Given the description of an element on the screen output the (x, y) to click on. 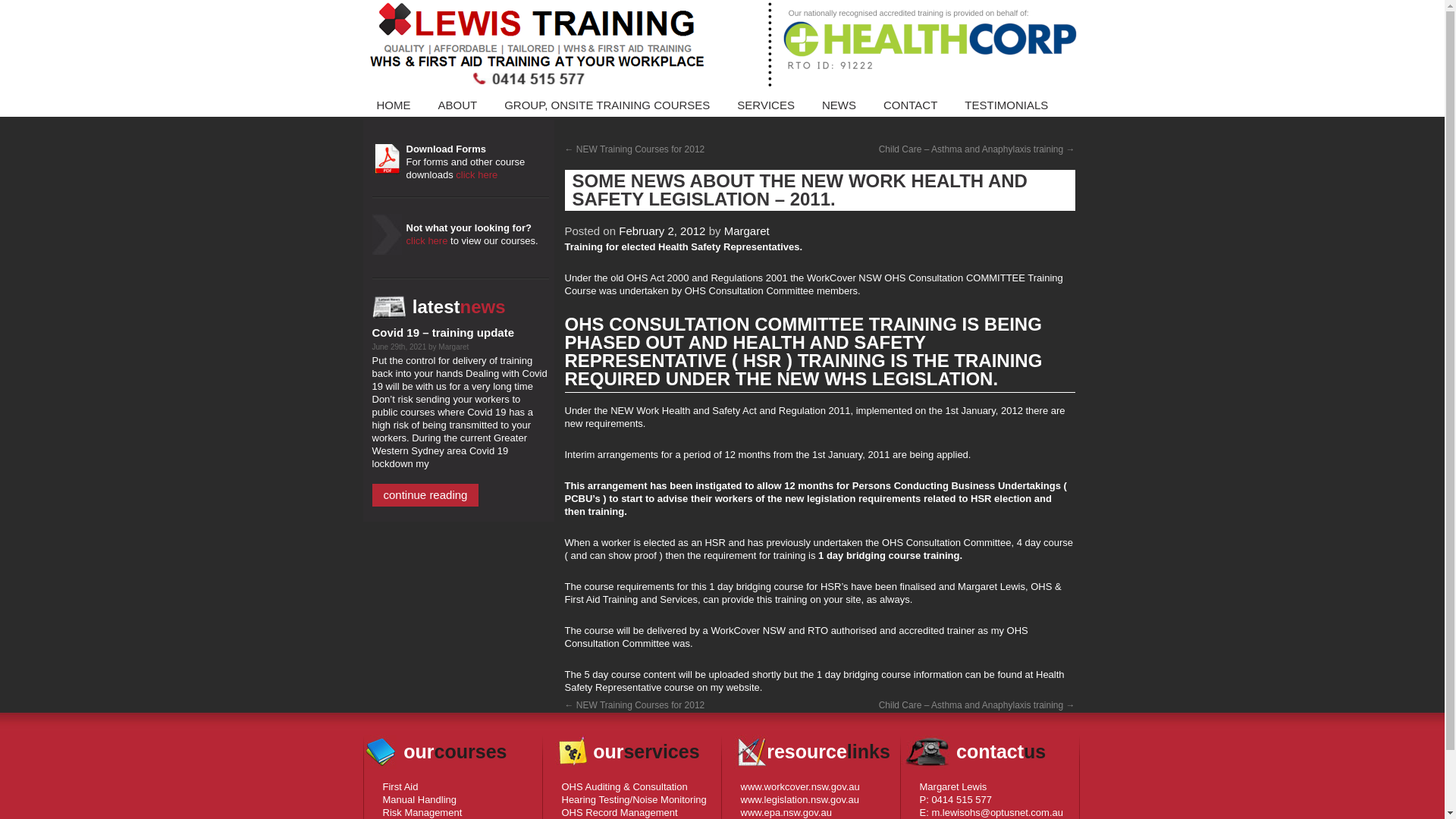
CONTACT Element type: text (909, 105)
Manual Handling Element type: text (419, 799)
First Aid Element type: text (399, 786)
Margaret Element type: text (746, 230)
February 2, 2012 Element type: text (661, 230)
OHS Auditing & Consultation Element type: text (624, 786)
TESTIMONIALS Element type: text (1005, 105)
www.epa.nsw.gov.au Element type: text (785, 812)
GROUP, ONSITE TRAINING COURSES Element type: text (606, 105)
Lewis Training Element type: hover (721, 45)
NEWS Element type: text (838, 105)
www.legislation.nsw.gov.au Element type: text (799, 799)
HOME Element type: text (392, 105)
click here Element type: text (427, 240)
Hearing Testing/Noise Monitoring Element type: text (633, 799)
OHS Record Management Element type: text (619, 812)
ABOUT Element type: text (457, 105)
Risk Management Element type: text (421, 812)
SERVICES Element type: text (765, 105)
www.workcover.nsw.gov.au Element type: text (799, 786)
click here Element type: text (476, 174)
continue reading Element type: text (424, 494)
